Given the description of an element on the screen output the (x, y) to click on. 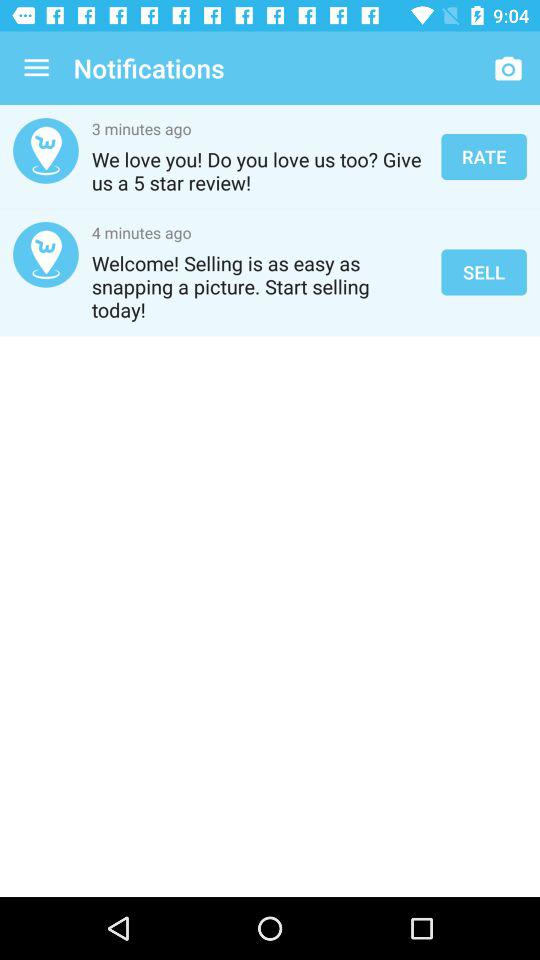
swipe until the rate (483, 156)
